Given the description of an element on the screen output the (x, y) to click on. 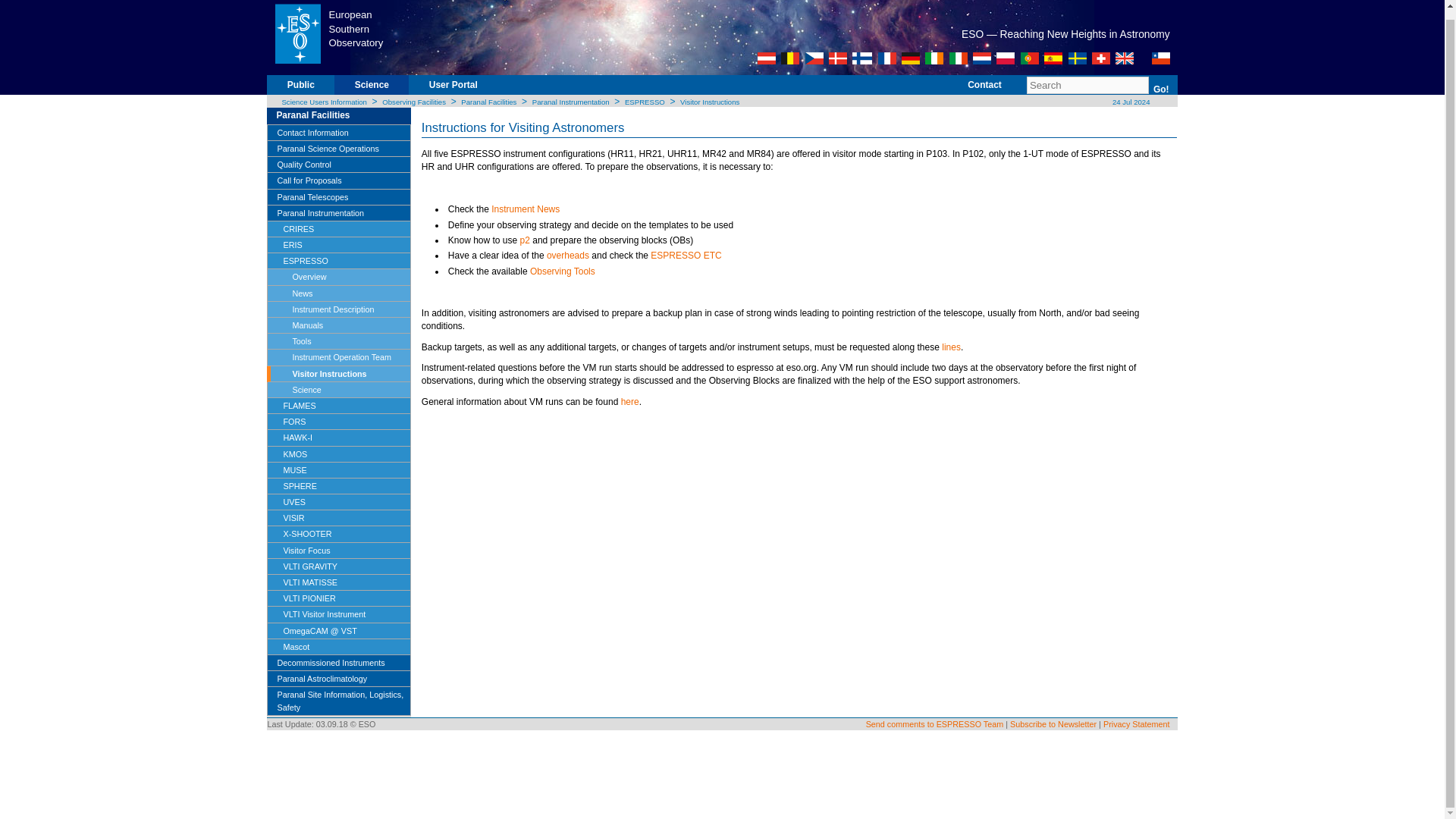
Go! (1160, 89)
Czech Republic (814, 58)
Paranal Instrumentation (571, 101)
ESPRESSO (644, 101)
Belgium (789, 58)
France (886, 58)
Paranal Facilities (343, 115)
Germany (910, 58)
Austria (766, 58)
Visitor Instructions (709, 101)
Contact Information (338, 132)
ESO (297, 32)
Science (371, 90)
Denmark (837, 58)
Search (1087, 85)
